Given the description of an element on the screen output the (x, y) to click on. 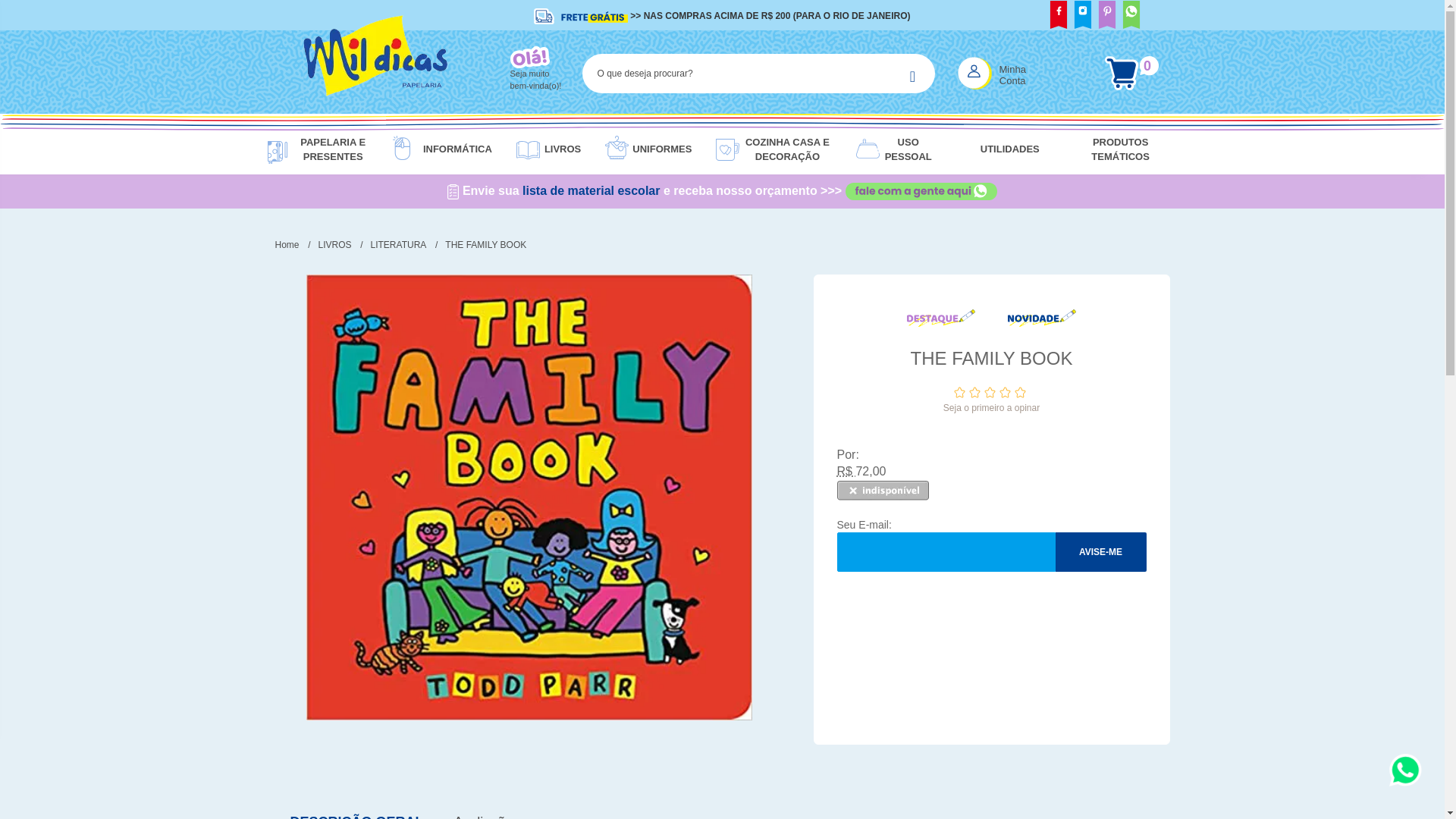
Pinterest (1106, 17)
Instagram (1082, 17)
Mil Dicas (375, 72)
Linkedin (1130, 17)
PAPELARIA E PRESENTES (328, 149)
Carrinho (1131, 73)
Facebook (1058, 17)
